Given the description of an element on the screen output the (x, y) to click on. 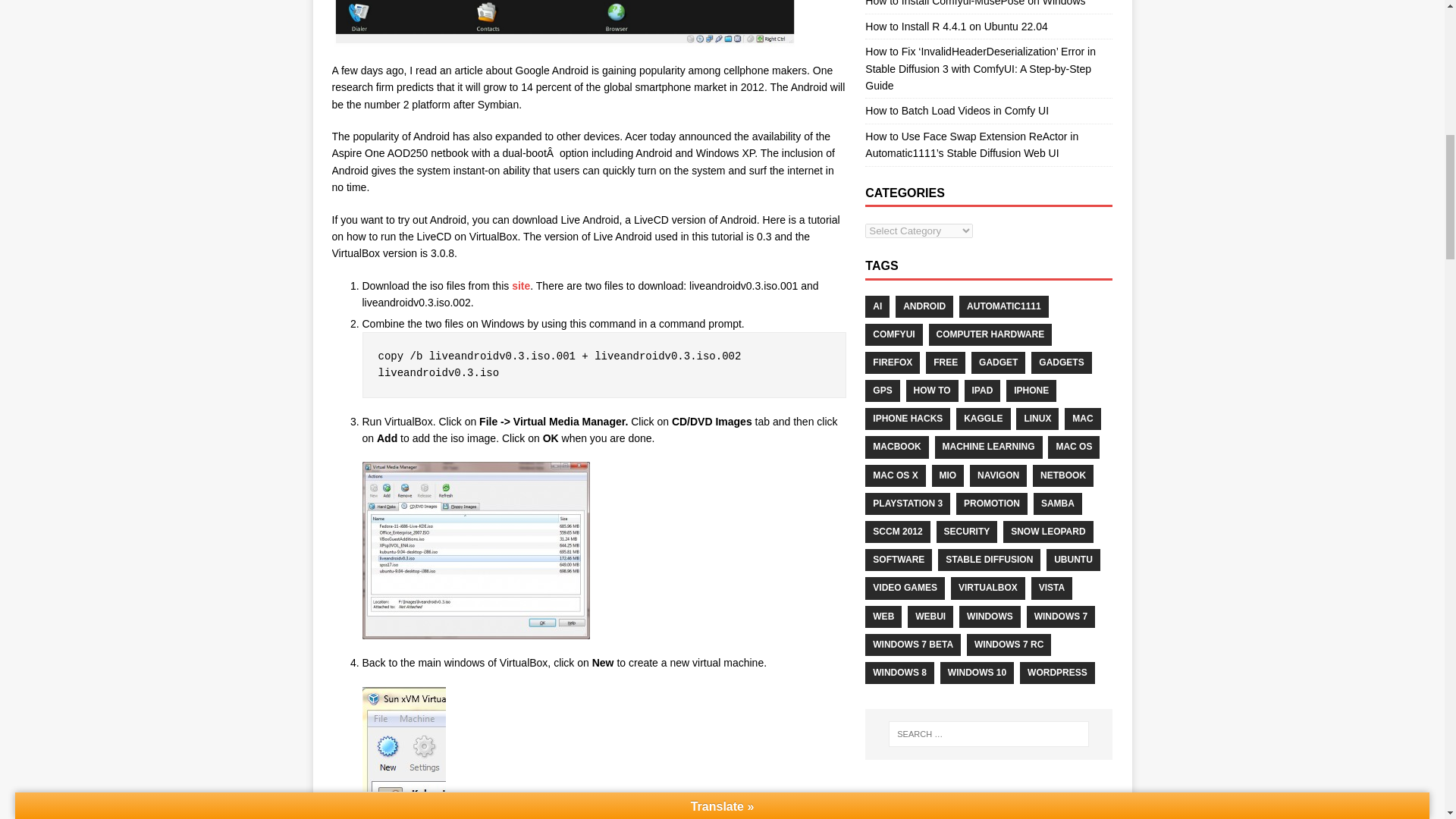
android01 (475, 550)
android11 (564, 23)
site (520, 285)
